Given the description of an element on the screen output the (x, y) to click on. 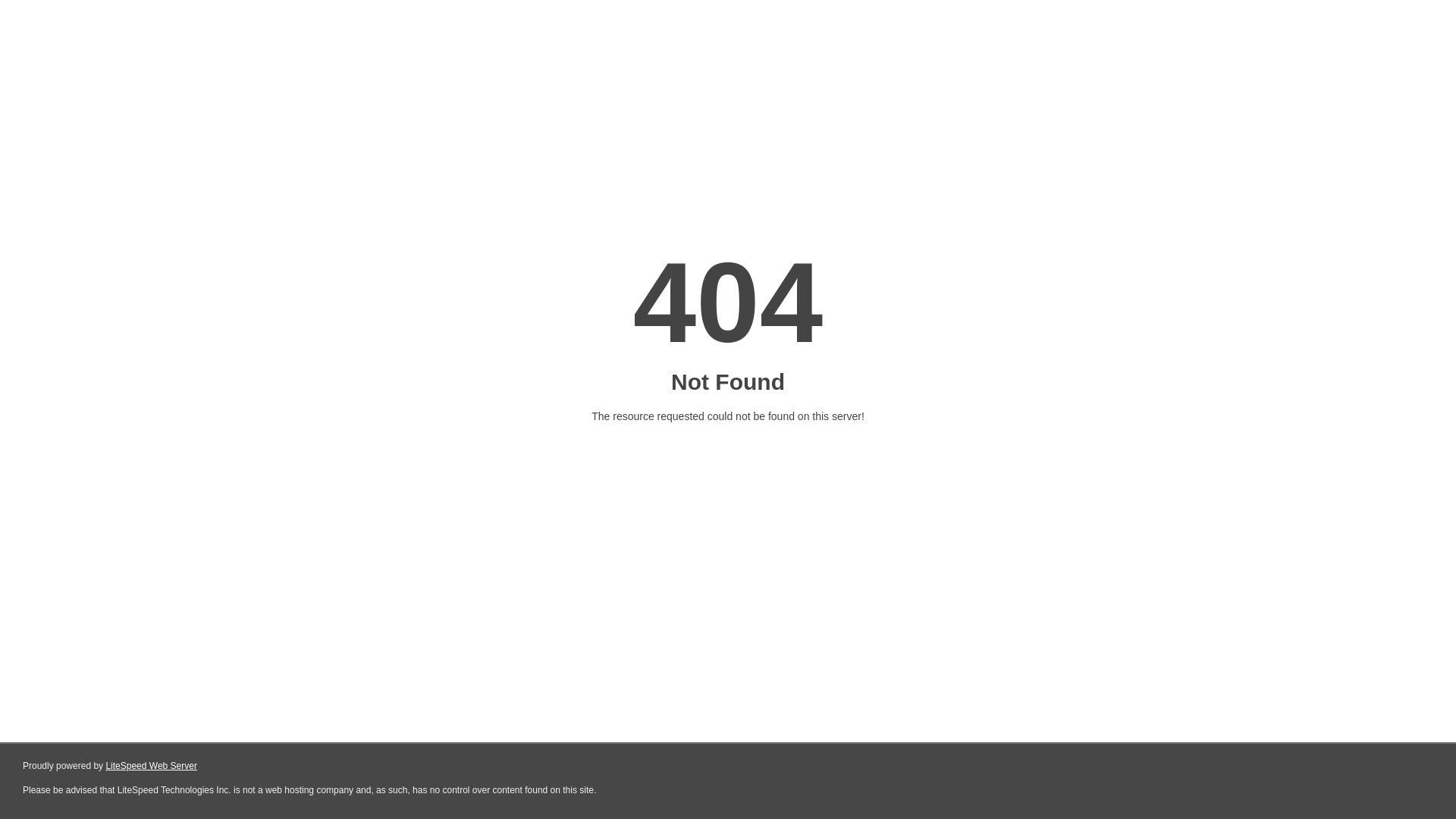
LiteSpeed Web Server Element type: text (151, 765)
